Given the description of an element on the screen output the (x, y) to click on. 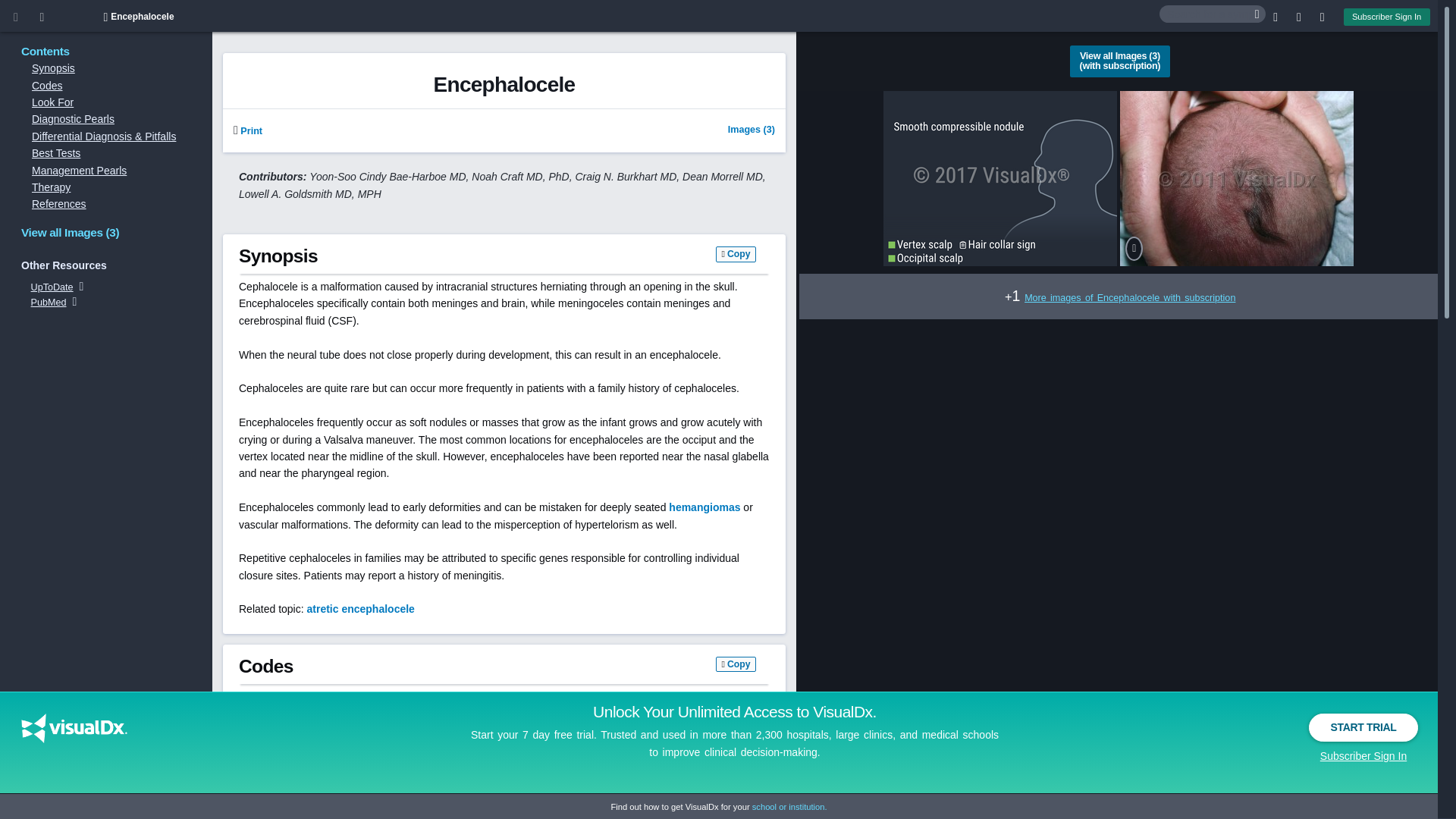
Subscriber Sign In (1363, 755)
Subscription Required (247, 131)
school or institution. (789, 807)
Unlock Your Unlimited Access to VisualDx. (734, 711)
Subscriber Sign In (1386, 16)
START TRIAL (1363, 727)
